Given the description of an element on the screen output the (x, y) to click on. 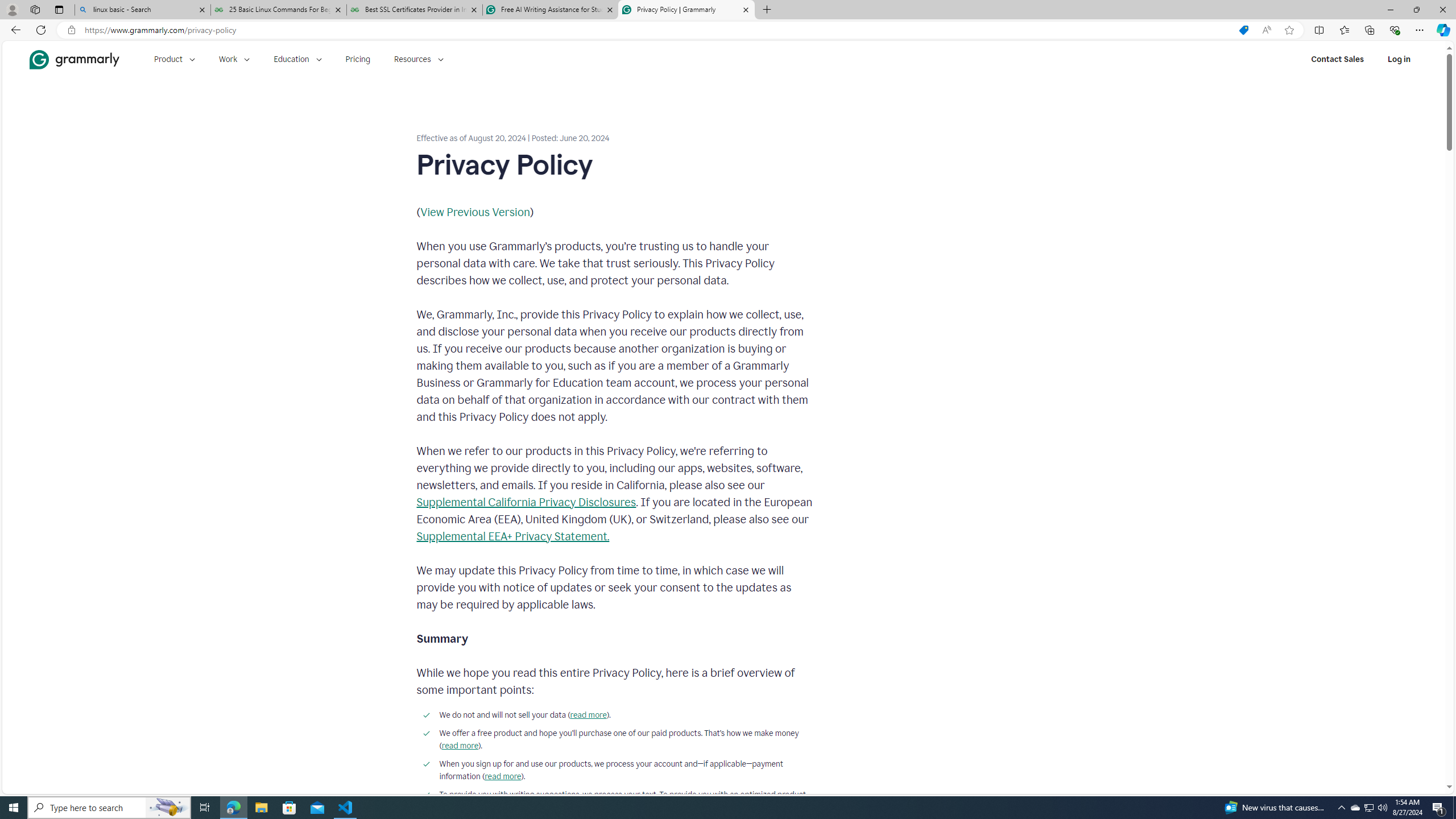
Best SSL Certificates Provider in India - GeeksforGeeks (414, 9)
linux basic - Search (142, 9)
View Previous Version (474, 211)
Product (174, 58)
Grammarly Home (74, 59)
Grammarly Home (74, 59)
